Given the description of an element on the screen output the (x, y) to click on. 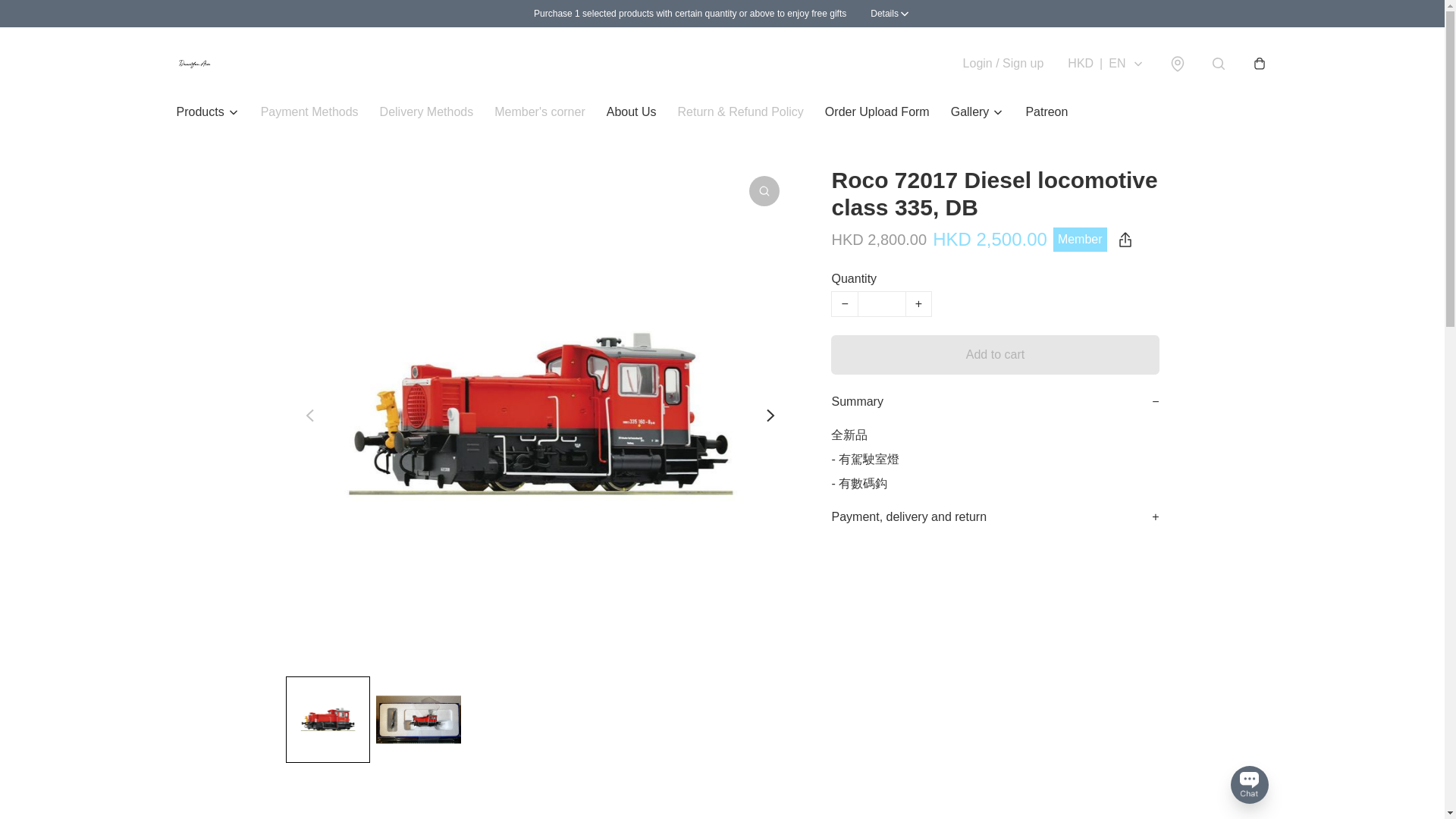
DENNISYAU.ASIA (194, 63)
